Given the description of an element on the screen output the (x, y) to click on. 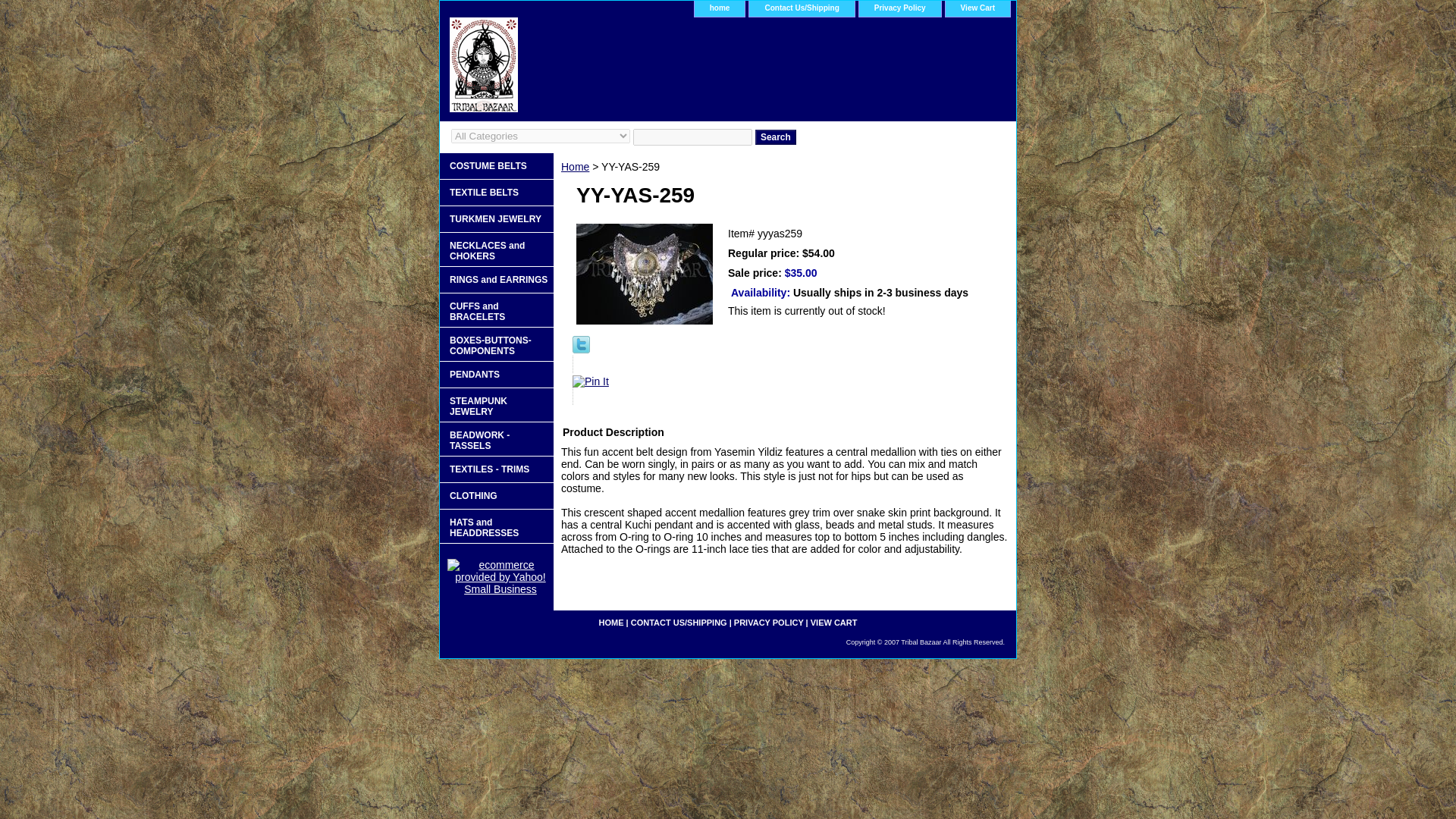
CLOTHING (496, 496)
HOME (611, 622)
PENDANTS (496, 374)
STEAMPUNK JEWELRY (496, 405)
 COSTUME  BELTS (496, 166)
TURKMEN JEWELRY (496, 219)
COSTUME BELTS (496, 166)
CUFFS and BRACELETS (496, 310)
Pin It (590, 381)
home (719, 8)
TURKMEN JEWELRY (496, 219)
CLOTHING (496, 496)
CUFFS and BRACELETS (496, 310)
PENDANTS (496, 374)
NECKLACES and CHOKERS (496, 249)
